Given the description of an element on the screen output the (x, y) to click on. 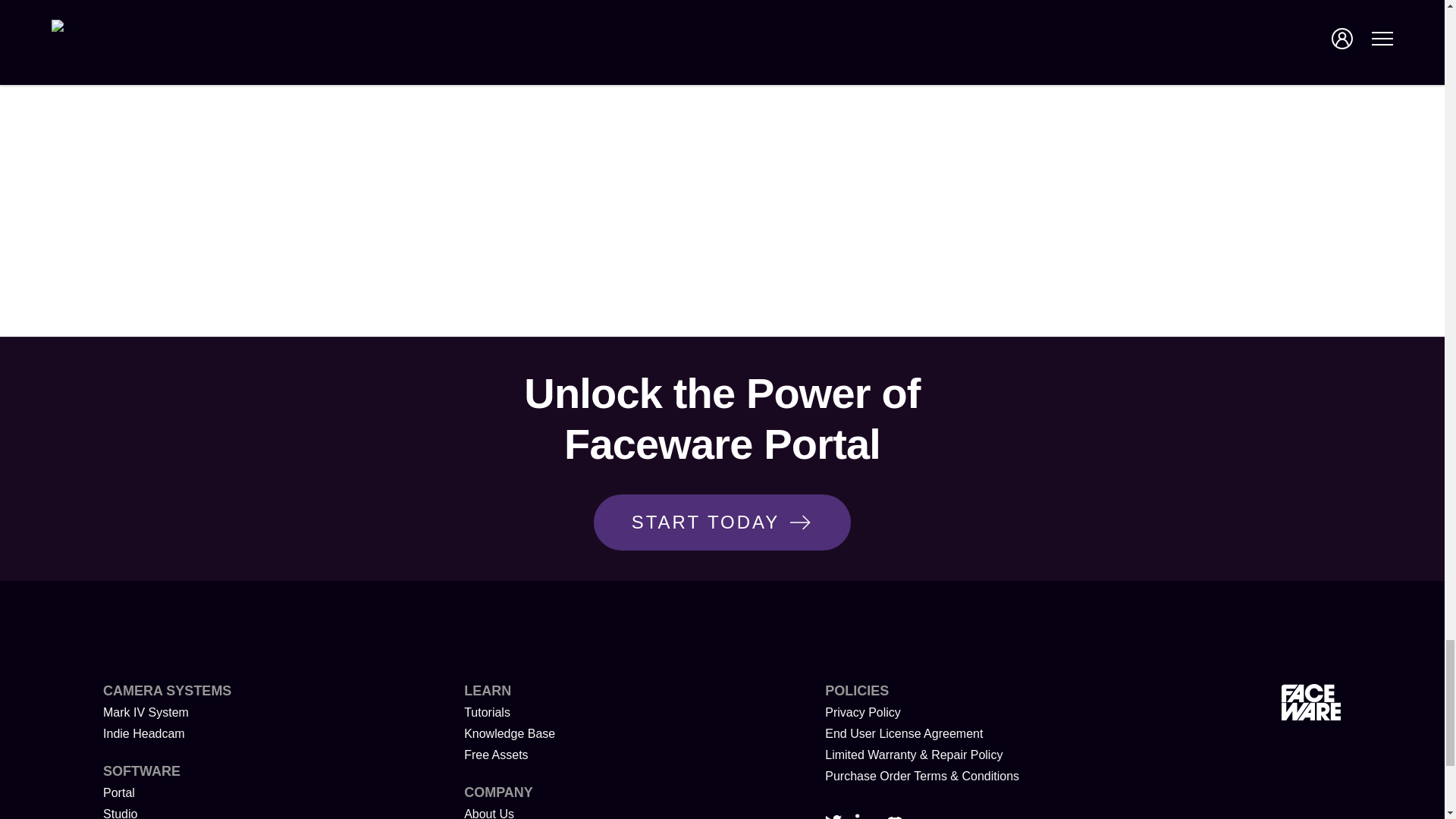
About Us (488, 813)
Studio (119, 813)
Free Assets (495, 754)
Indie Headcam (143, 733)
End User License Agreement (903, 733)
Privacy Policy (863, 712)
Tutorials (487, 712)
Portal (119, 792)
Mark IV System (146, 712)
Knowledge Base (509, 733)
START TODAY (722, 522)
